Given the description of an element on the screen output the (x, y) to click on. 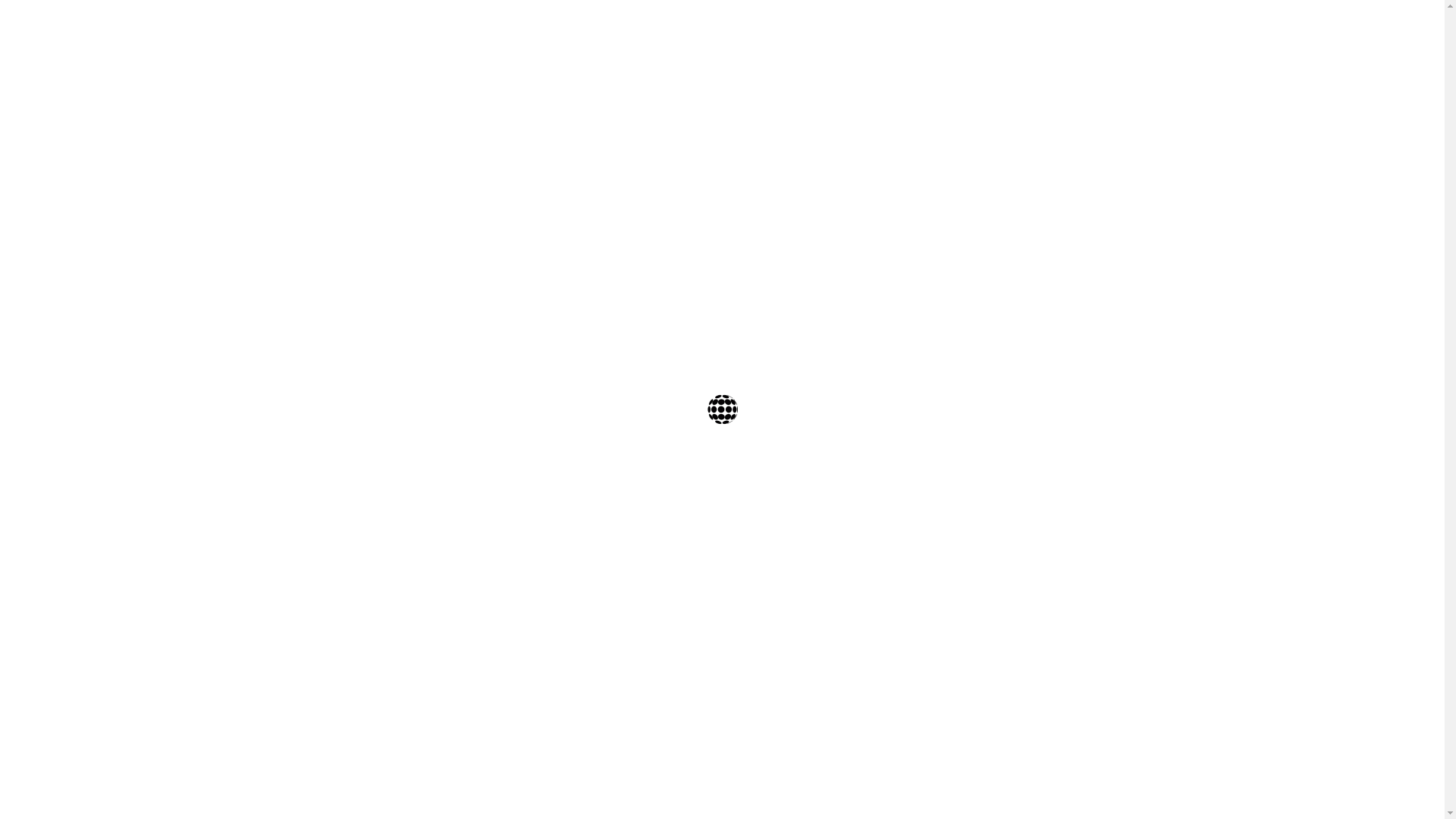
Dienstleistungen Element type: text (1027, 26)
Home Slider Element type: text (670, 74)
Kontakt Element type: text (1147, 26)
Home Element type: text (623, 74)
AGB Element type: text (881, 216)
News Element type: text (1097, 26)
Home Element type: text (853, 26)
Team Element type: text (957, 26)
